Given the description of an element on the screen output the (x, y) to click on. 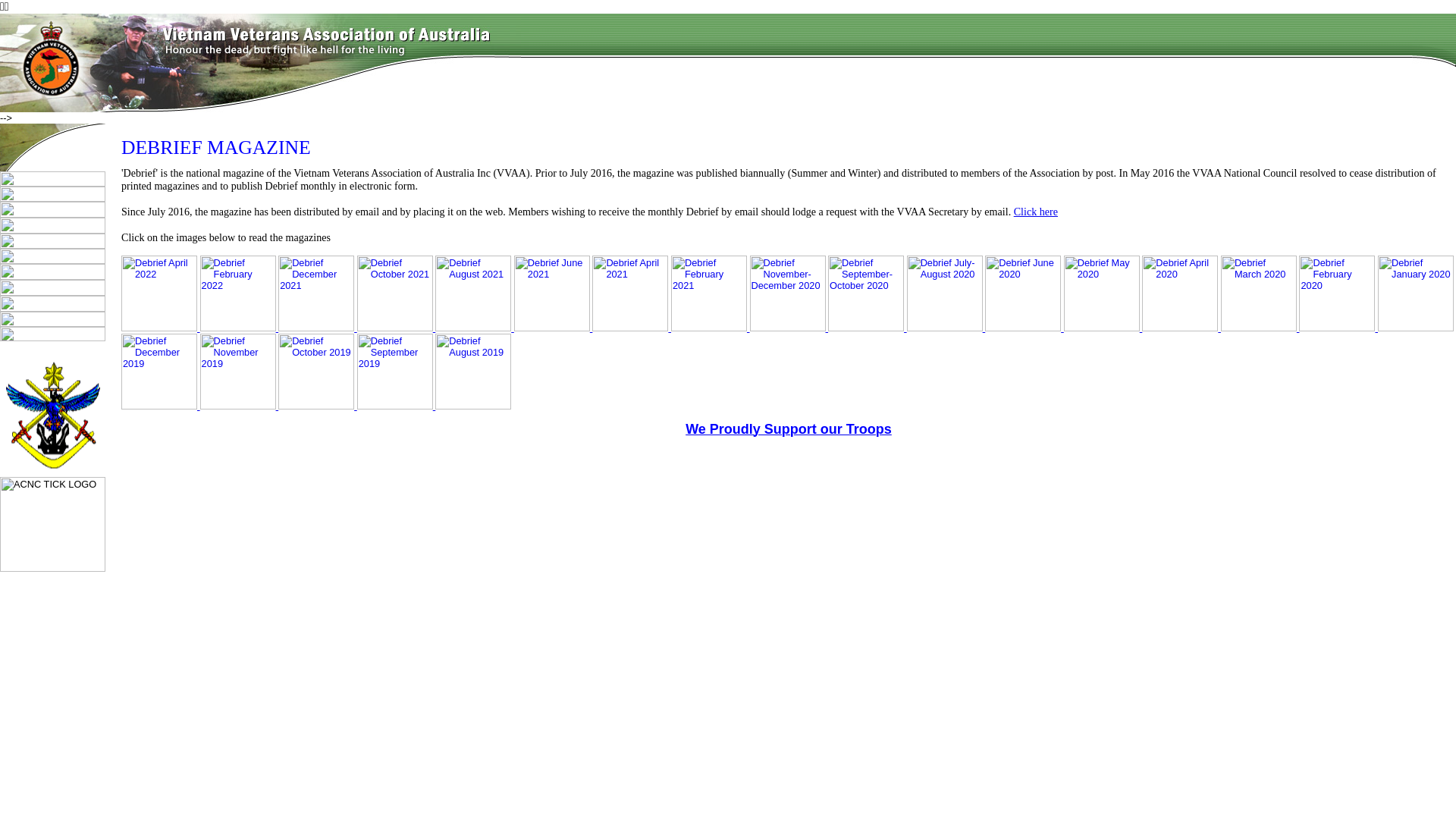
Click here Element type: text (1035, 211)
